Given the description of an element on the screen output the (x, y) to click on. 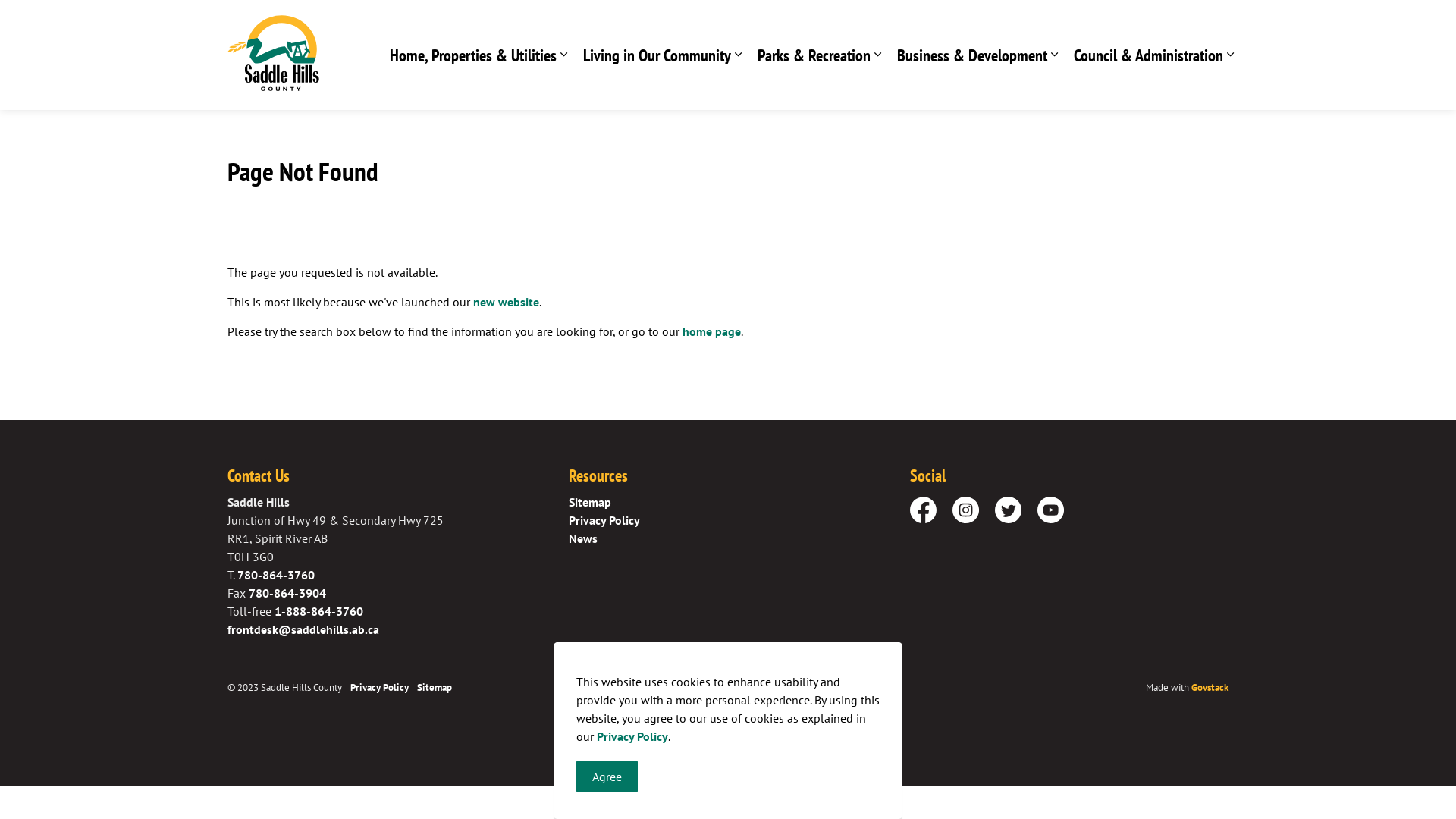
News Element type: text (582, 538)
Agree Element type: text (606, 776)
Saddle Hills County Element type: hover (273, 53)
home page Element type: text (711, 330)
Home, Properties & Utilities Element type: text (474, 54)
Parks & Recreation Element type: text (815, 54)
780-864-3760 Element type: text (275, 574)
Sitemap Element type: text (589, 501)
Council & Administration Element type: text (1150, 54)
Link will open in a new window/tab Element type: hover (965, 509)
Govstack Element type: text (1209, 686)
Business & Development Element type: text (973, 54)
Link will open in a new window/tab Element type: hover (1050, 509)
Sitemap Element type: text (434, 686)
new website Element type: text (506, 301)
Privacy Policy Element type: text (632, 735)
Link will open in a new window/tab Element type: hover (923, 509)
Privacy Policy Element type: text (604, 519)
frontdesk@saddlehills.ab.ca Element type: text (303, 629)
1-888-864-3760 Element type: text (318, 610)
Living in Our Community Element type: text (658, 54)
Privacy Policy Element type: text (379, 686)
Link will open in a new window/tab Element type: hover (1007, 509)
780-864-3904 Element type: text (287, 592)
